Given the description of an element on the screen output the (x, y) to click on. 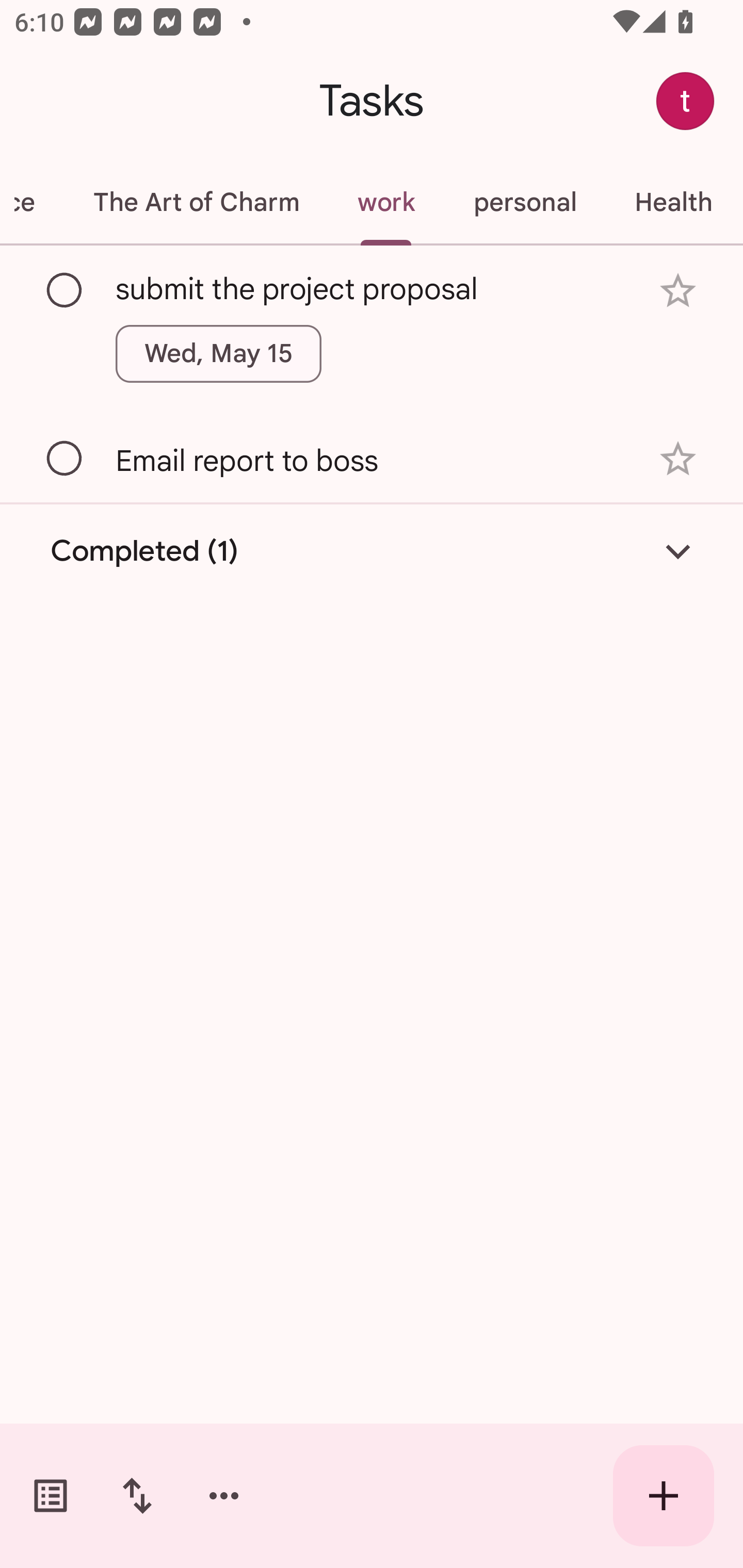
The Art of Charm (195, 202)
personal (524, 202)
Health (673, 202)
Add star (677, 290)
Mark as complete (64, 290)
Wed, May 15 (218, 353)
Add star (677, 458)
Mark as complete (64, 459)
Completed (1) (371, 551)
Switch task lists (50, 1495)
Create new task (663, 1495)
Change sort order (136, 1495)
More options (223, 1495)
